Given the description of an element on the screen output the (x, y) to click on. 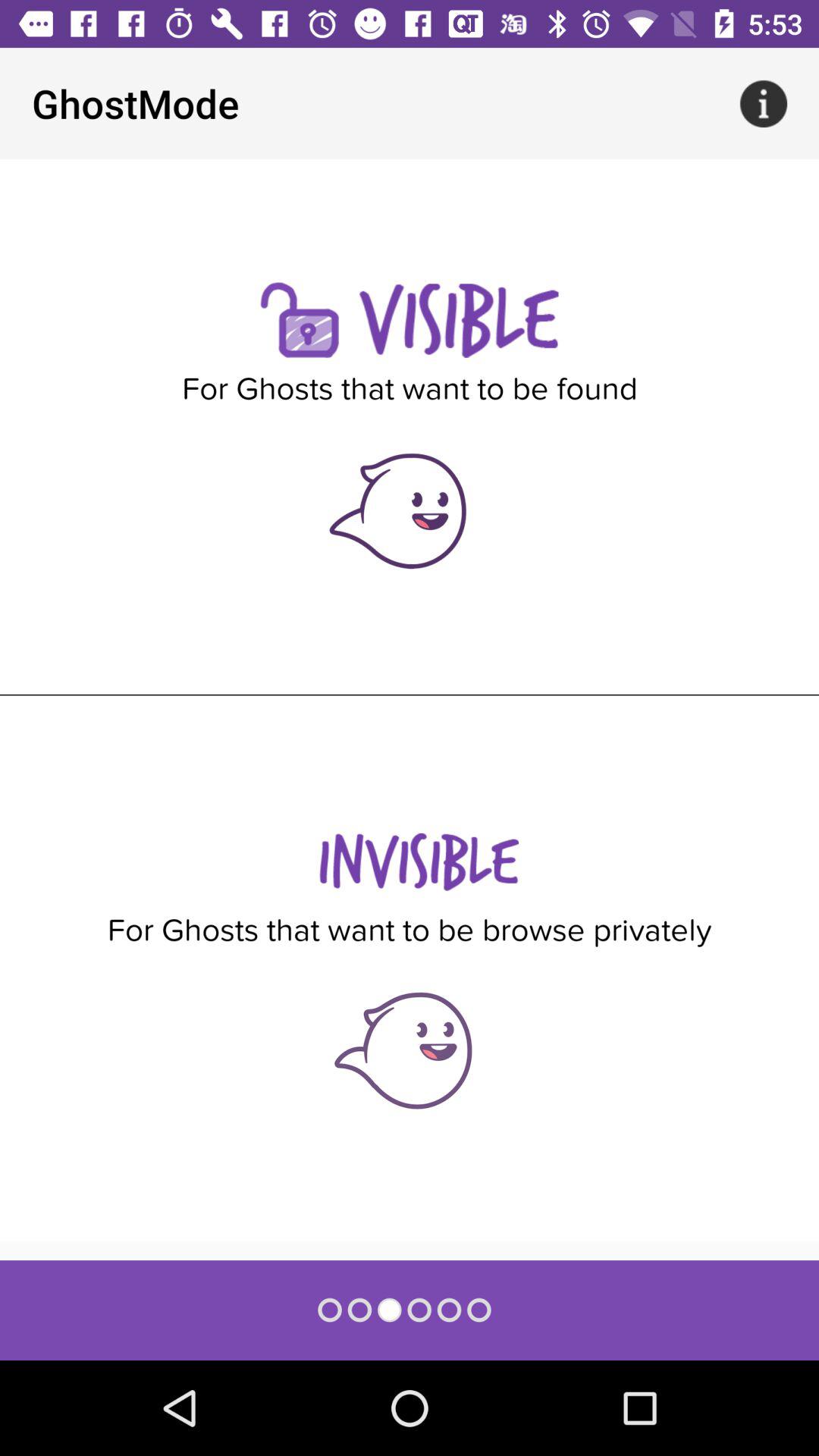
choose app next to ghostmode app (763, 103)
